Given the description of an element on the screen output the (x, y) to click on. 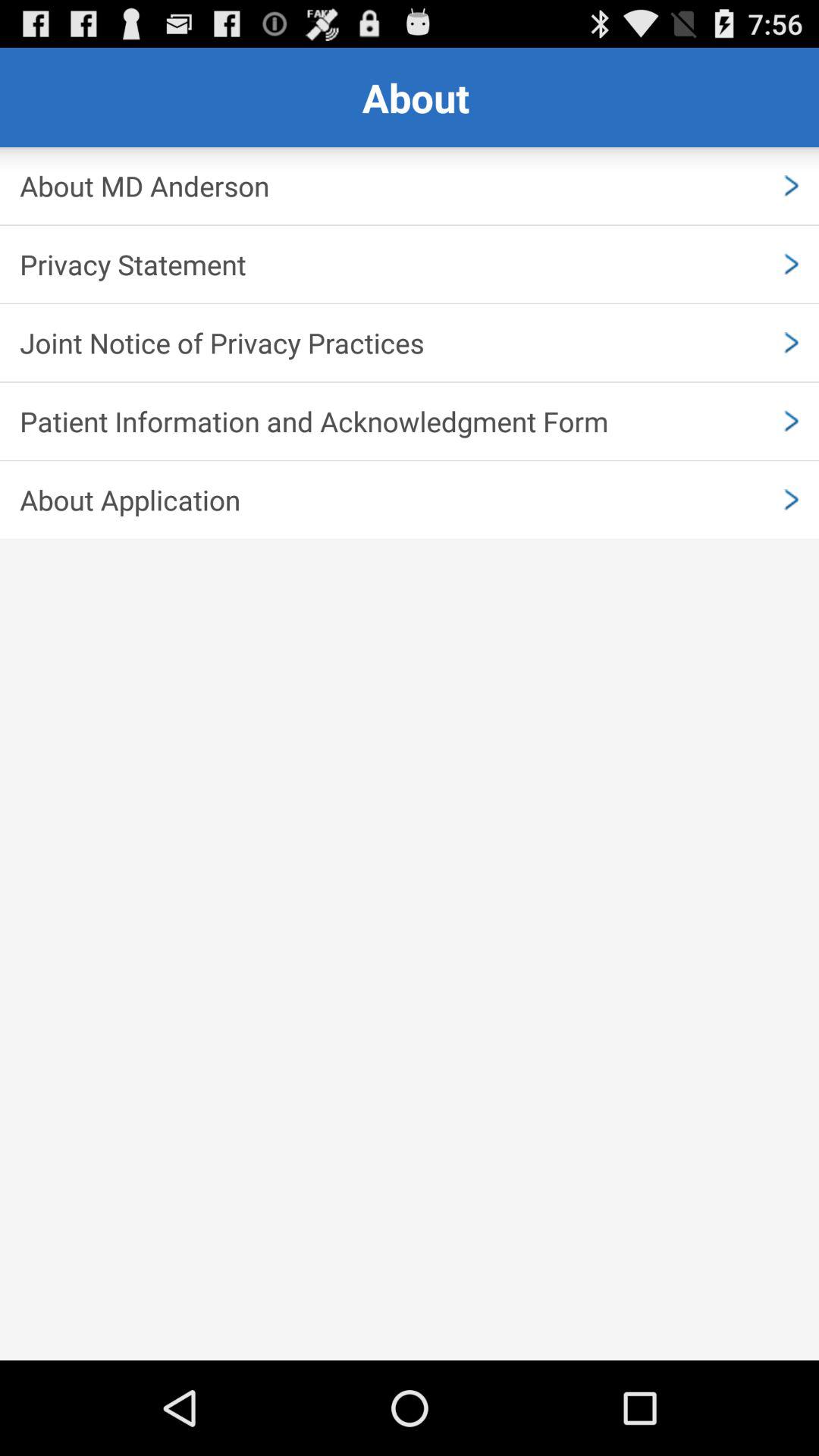
launch item above the privacy statement icon (409, 185)
